Given the description of an element on the screen output the (x, y) to click on. 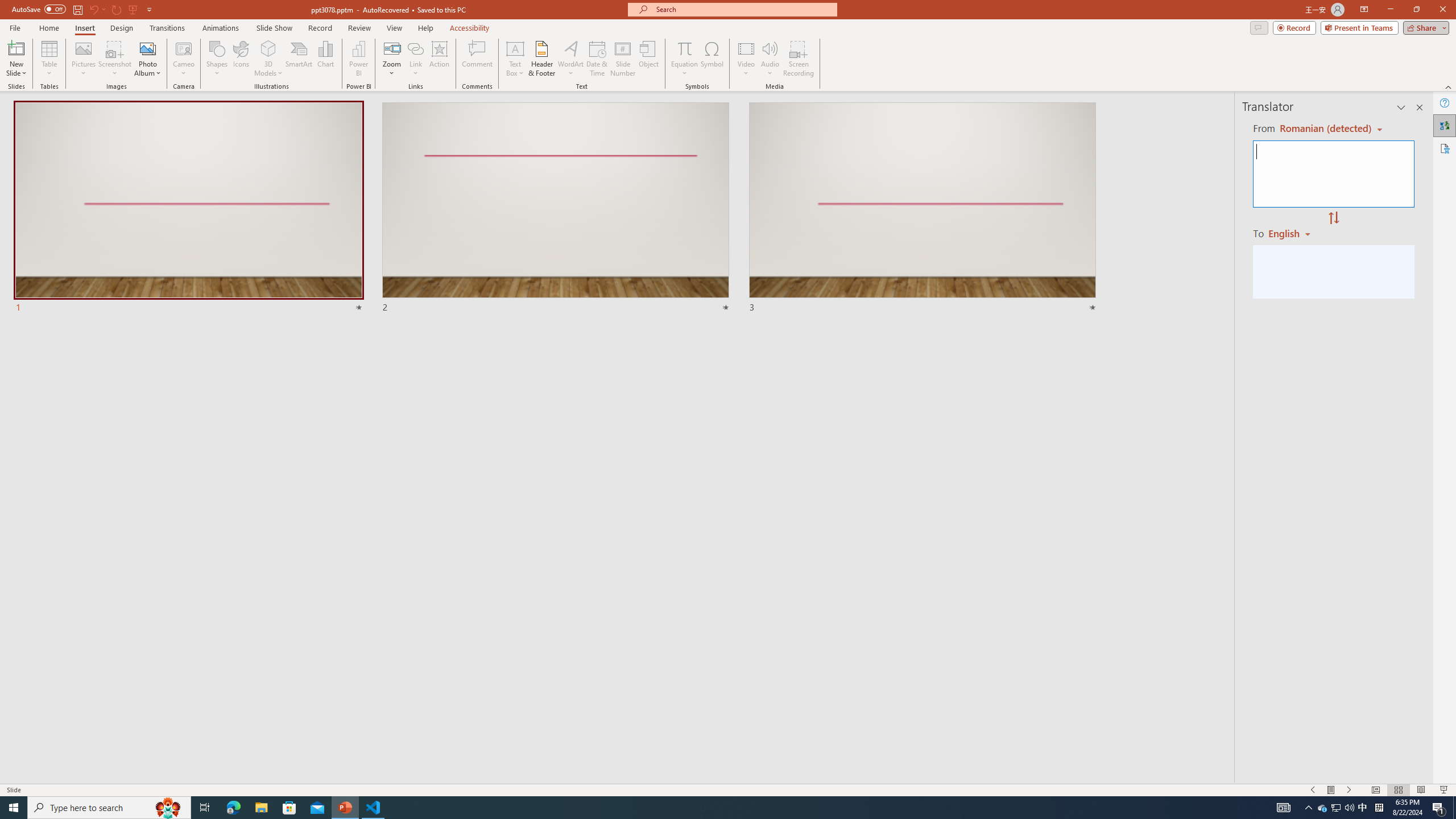
Audio (769, 58)
Slide Show Next On (1349, 790)
Photo Album... (147, 58)
SmartArt... (298, 58)
New Photo Album... (147, 48)
Comment (476, 58)
